Given the description of an element on the screen output the (x, y) to click on. 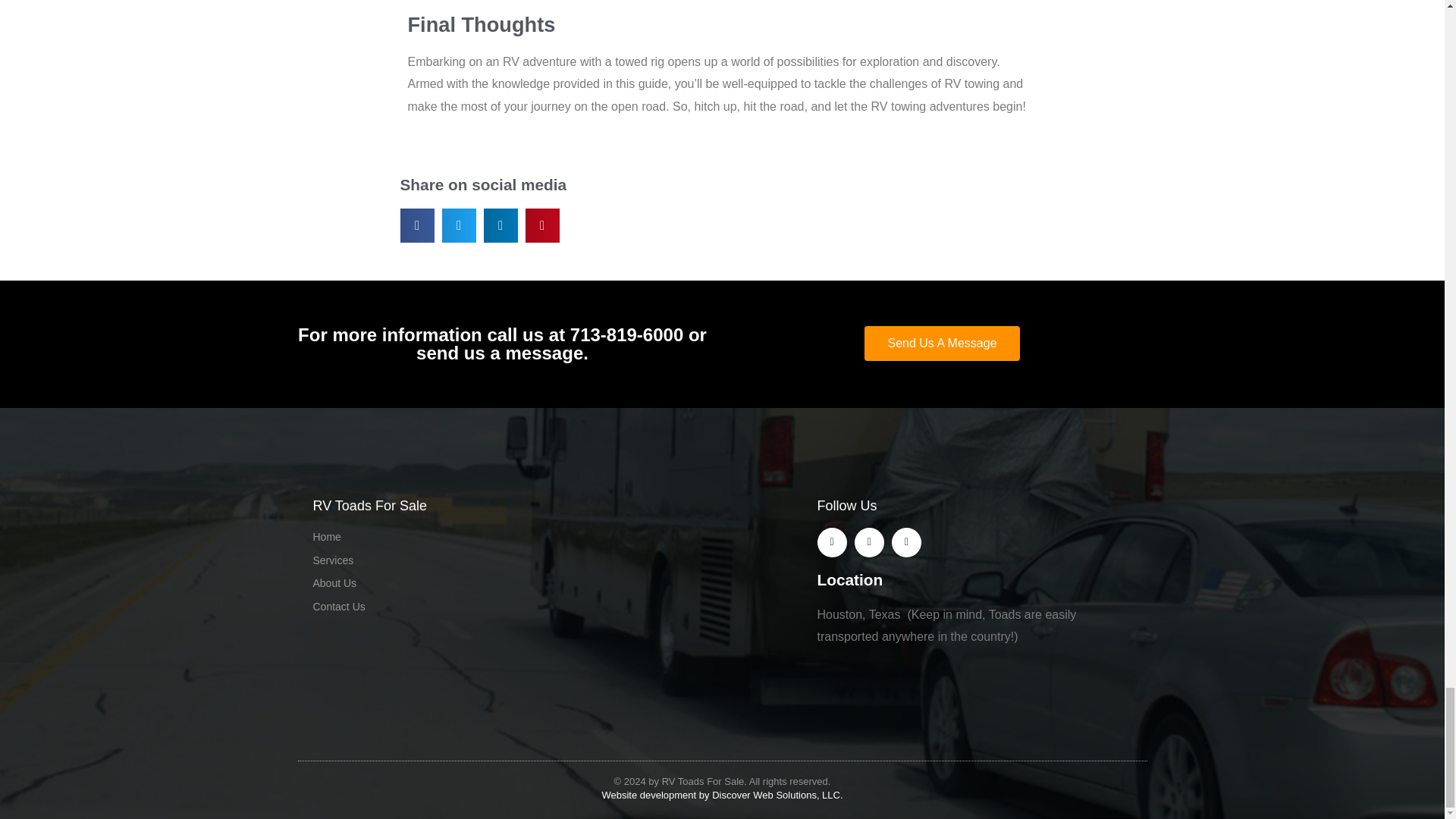
Facebook-f (831, 542)
About Us (470, 583)
Twitter (868, 542)
Services (470, 560)
Instagram (906, 542)
Send Us A Message (941, 343)
Contact Us (470, 607)
Home (470, 537)
Website development by Discover Web Solutions, LLC. (722, 794)
